Given the description of an element on the screen output the (x, y) to click on. 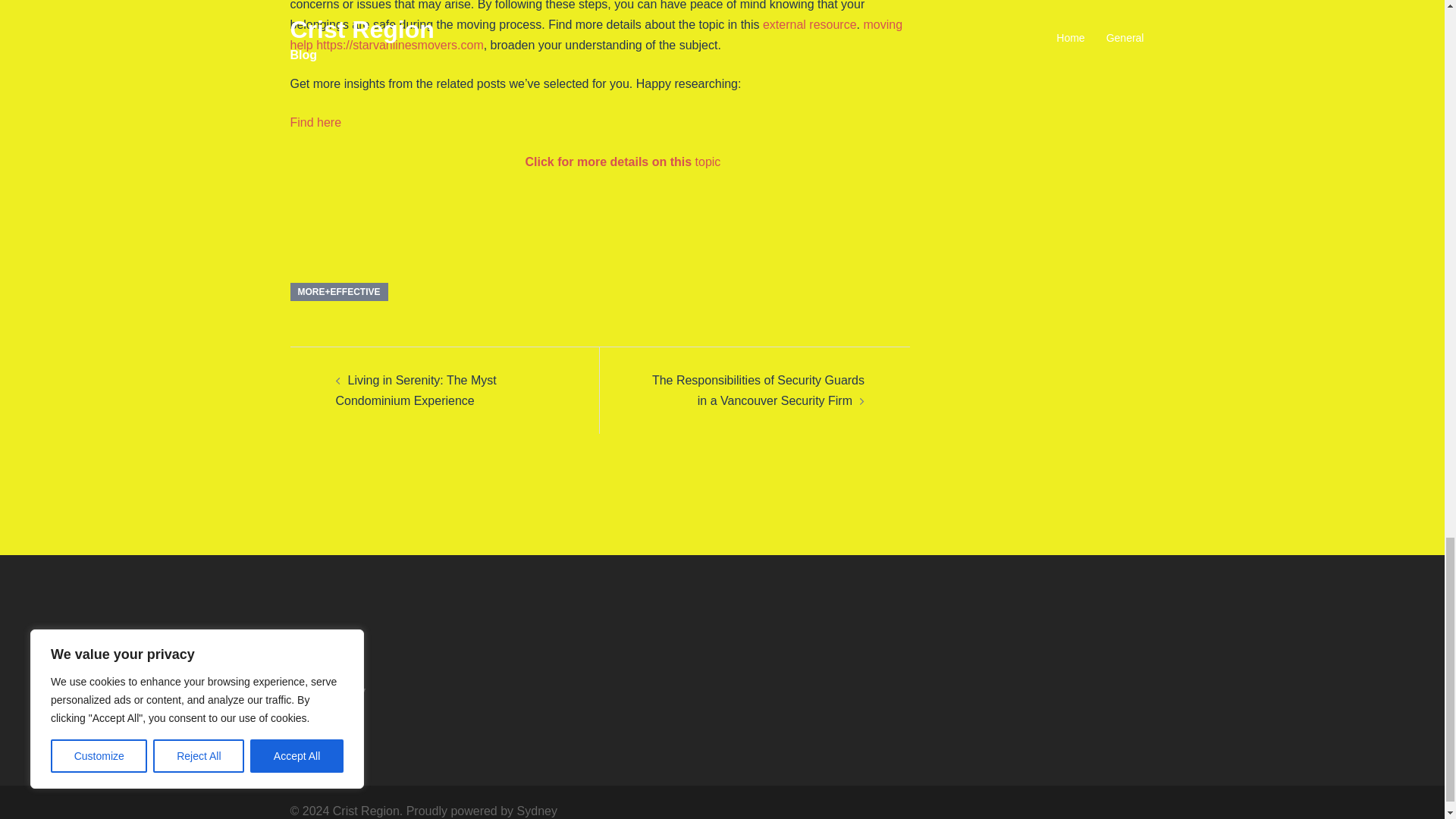
Find here (314, 122)
external resource (809, 24)
Living in Serenity: The Myst Condominium Experience (415, 390)
Click for more details on this topic (622, 161)
